Given the description of an element on the screen output the (x, y) to click on. 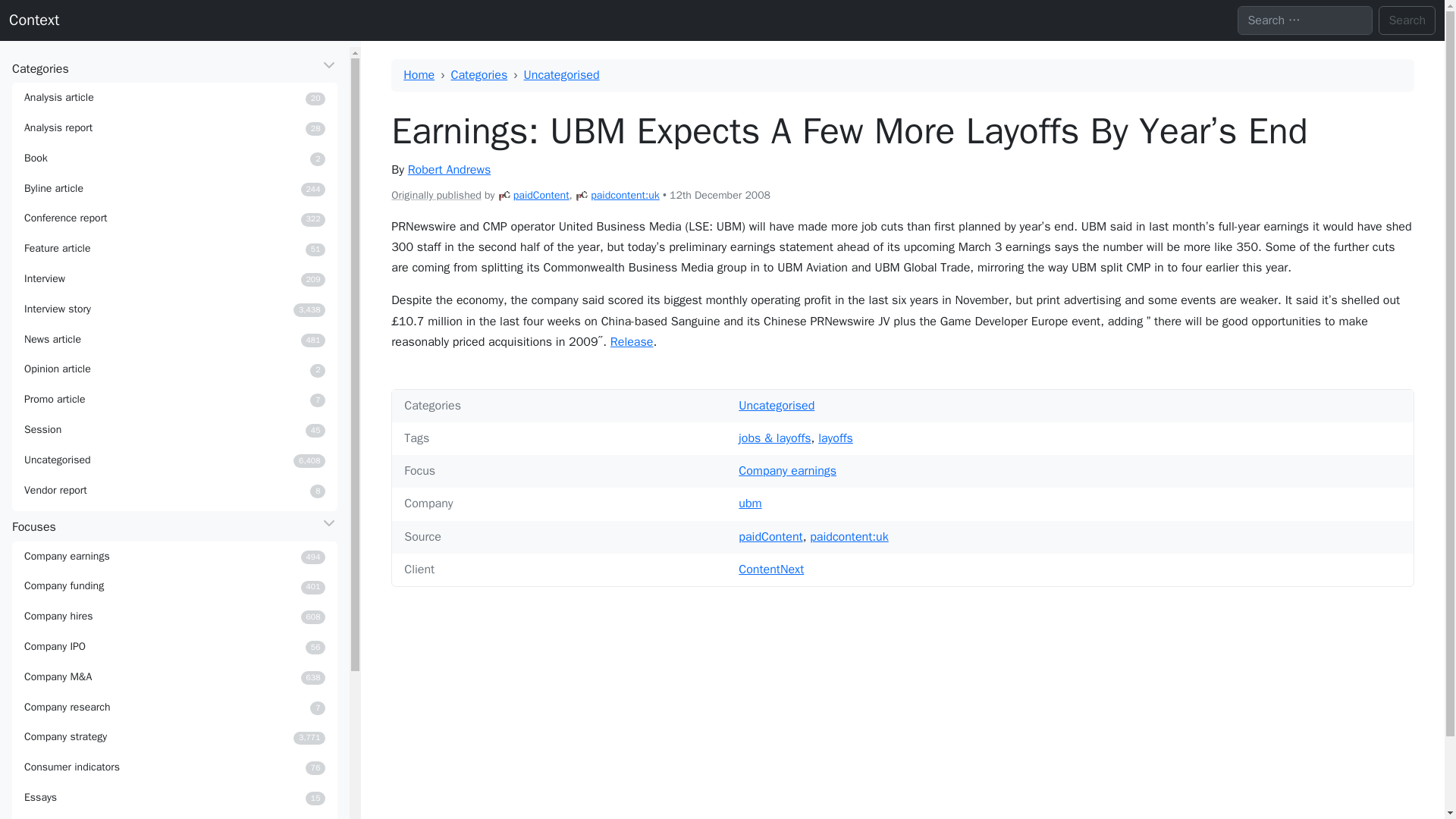
Posts by Robert Andrews (174, 368)
paidContent (449, 169)
Search (581, 195)
paidContent (1406, 20)
